Given the description of an element on the screen output the (x, y) to click on. 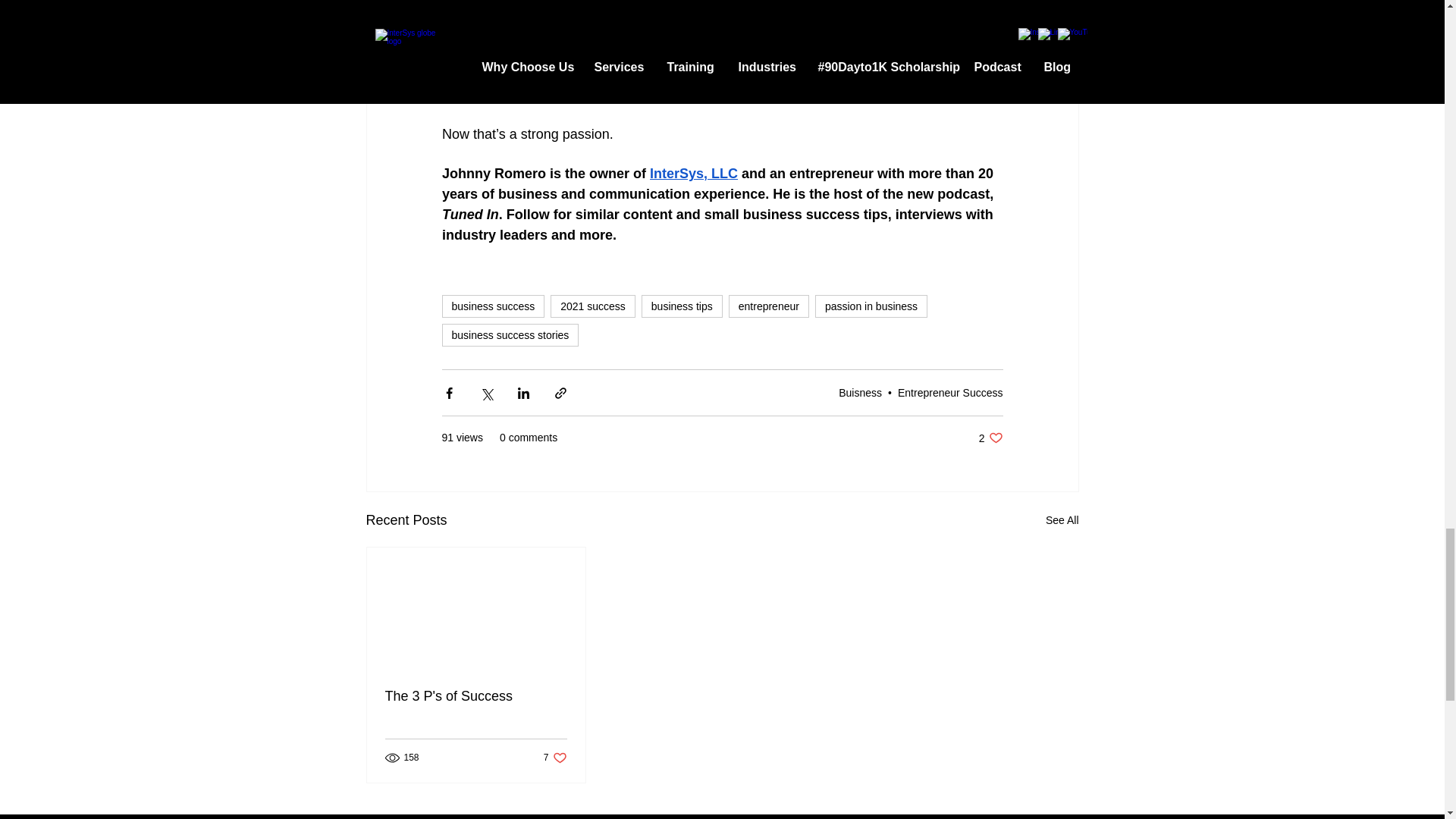
InterSys, LLC (693, 173)
entrepreneur (769, 305)
passion in business (871, 305)
business tips (682, 305)
business success (492, 305)
business success stories (509, 334)
2021 success (592, 305)
